Given the description of an element on the screen output the (x, y) to click on. 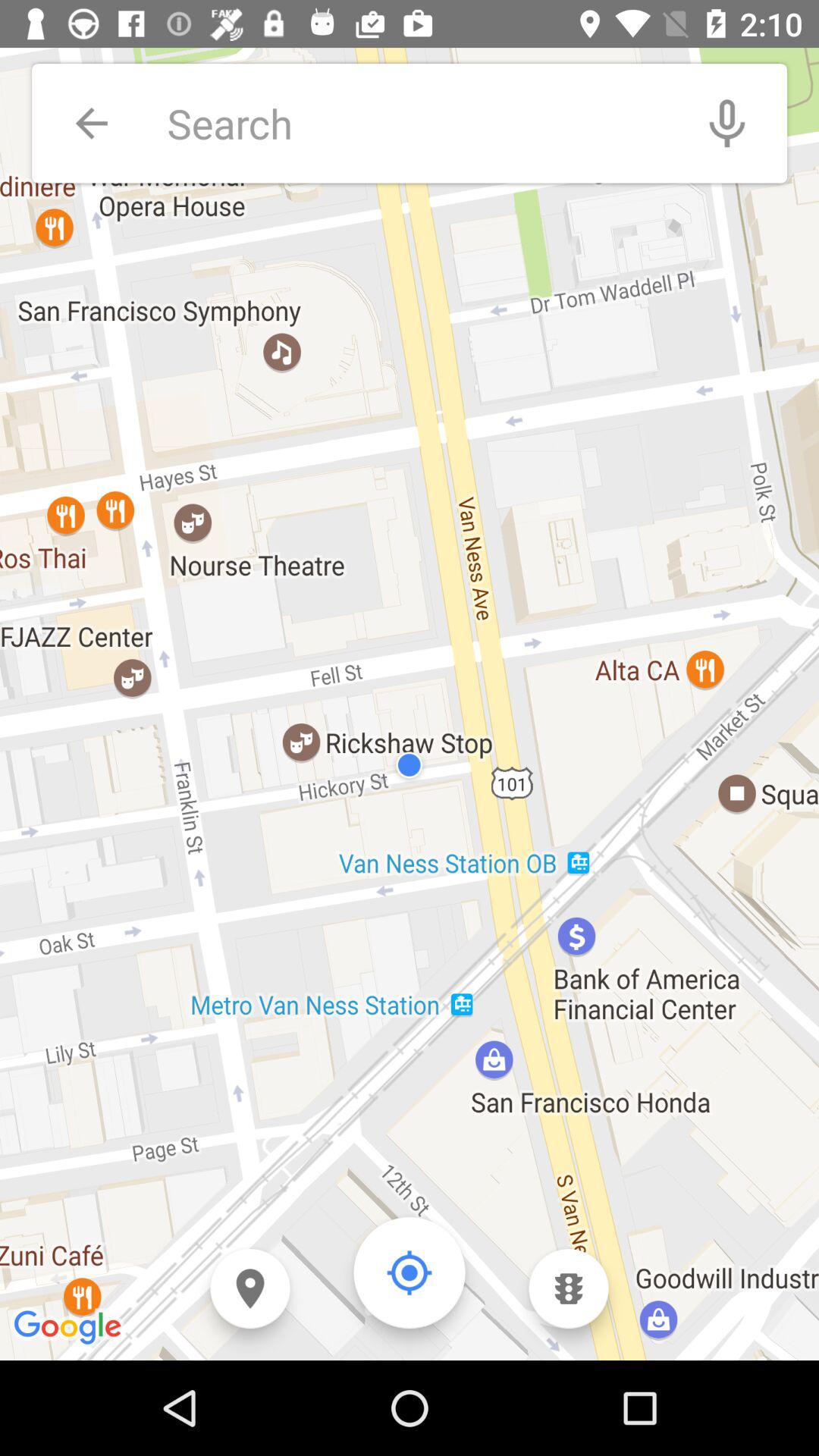
enter your search terms here (417, 123)
